Given the description of an element on the screen output the (x, y) to click on. 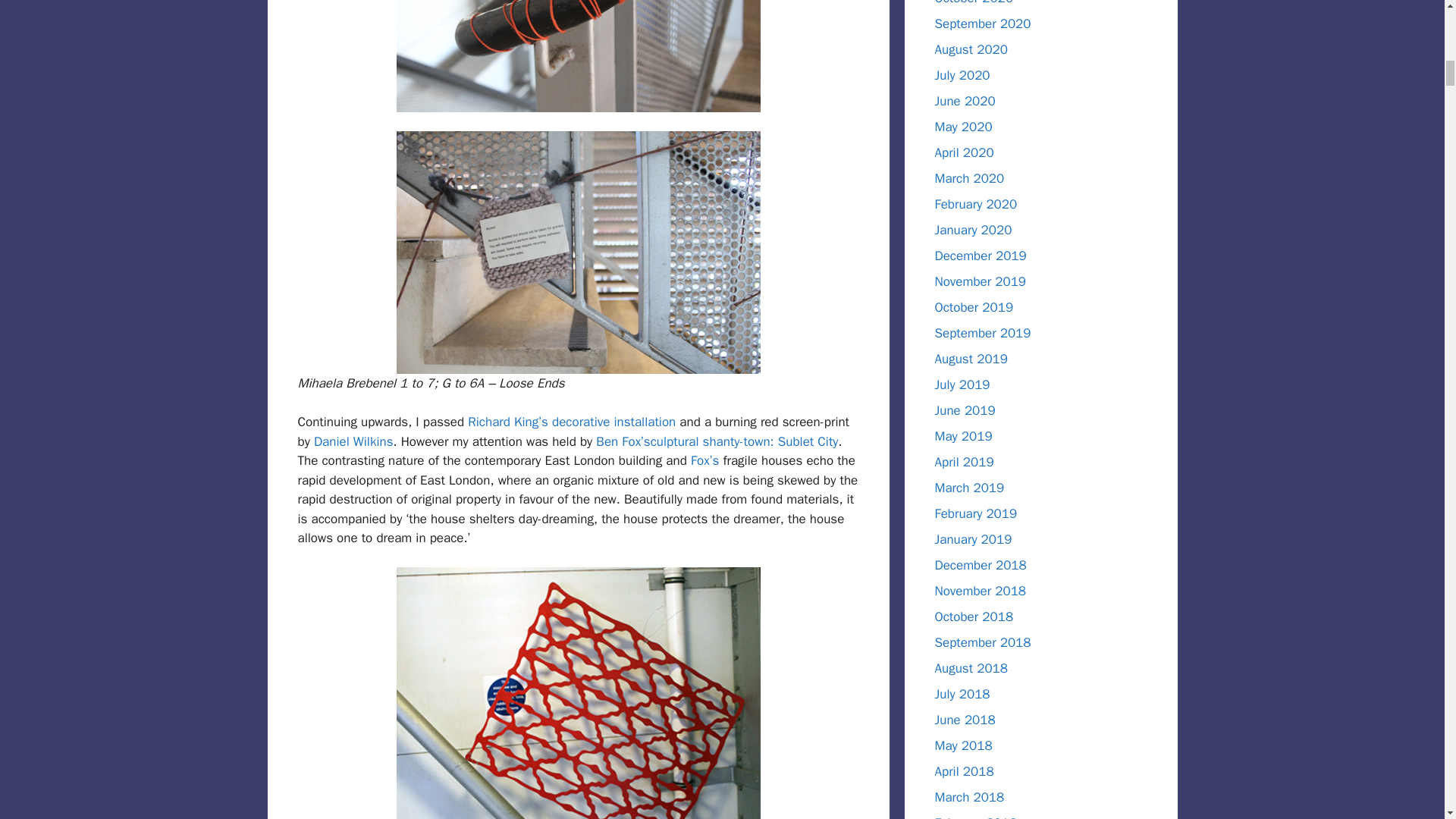
Daniel Wilkins (353, 441)
